Given the description of an element on the screen output the (x, y) to click on. 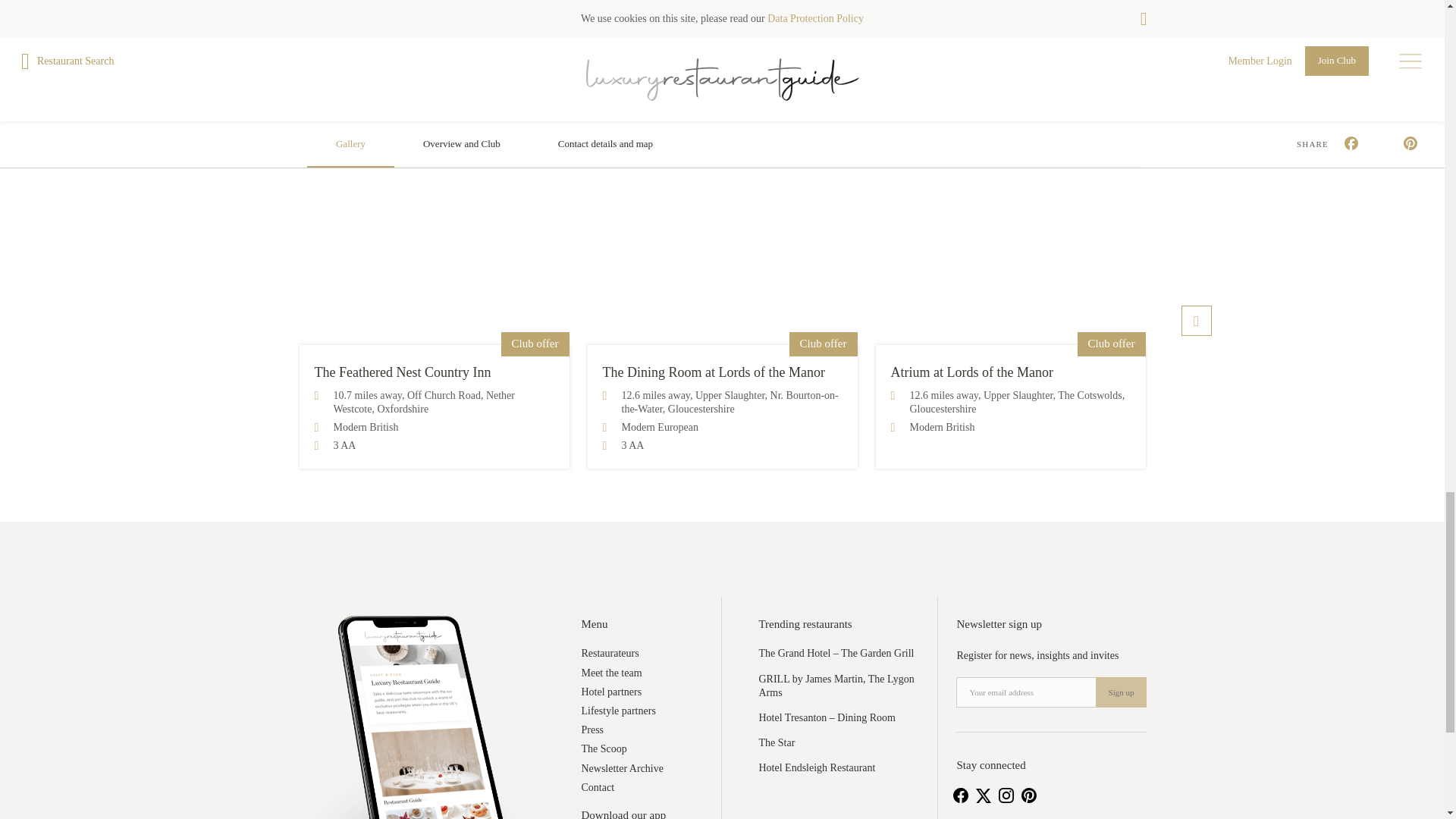
Sign up (1121, 692)
